Given the description of an element on the screen output the (x, y) to click on. 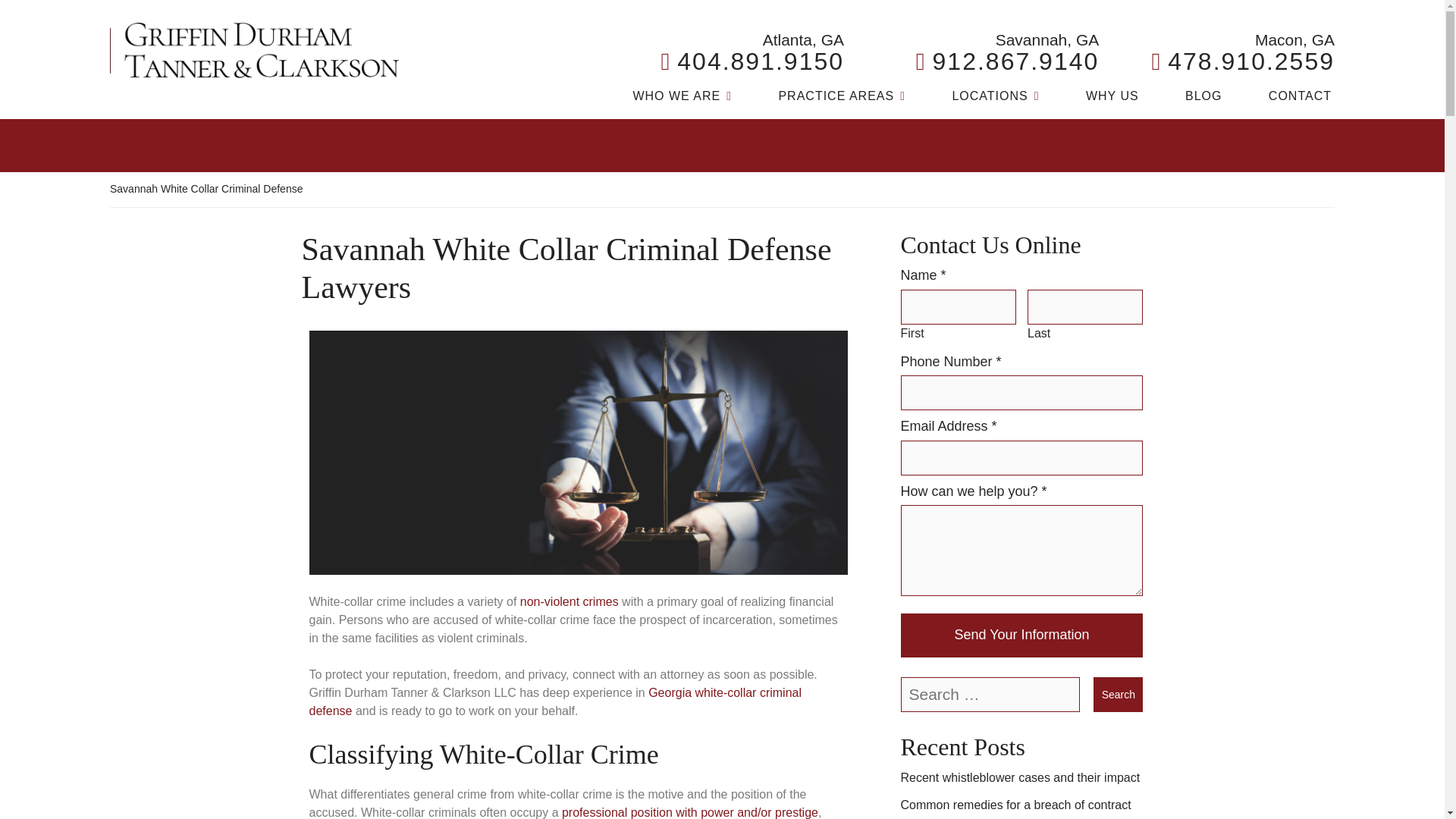
Return home (254, 49)
WHY US (752, 61)
WHO WE ARE (1112, 98)
PRACTICE AREAS (681, 98)
Search (841, 98)
Search (1117, 694)
LOCATIONS (1243, 61)
Search for: (1007, 61)
